Given the description of an element on the screen output the (x, y) to click on. 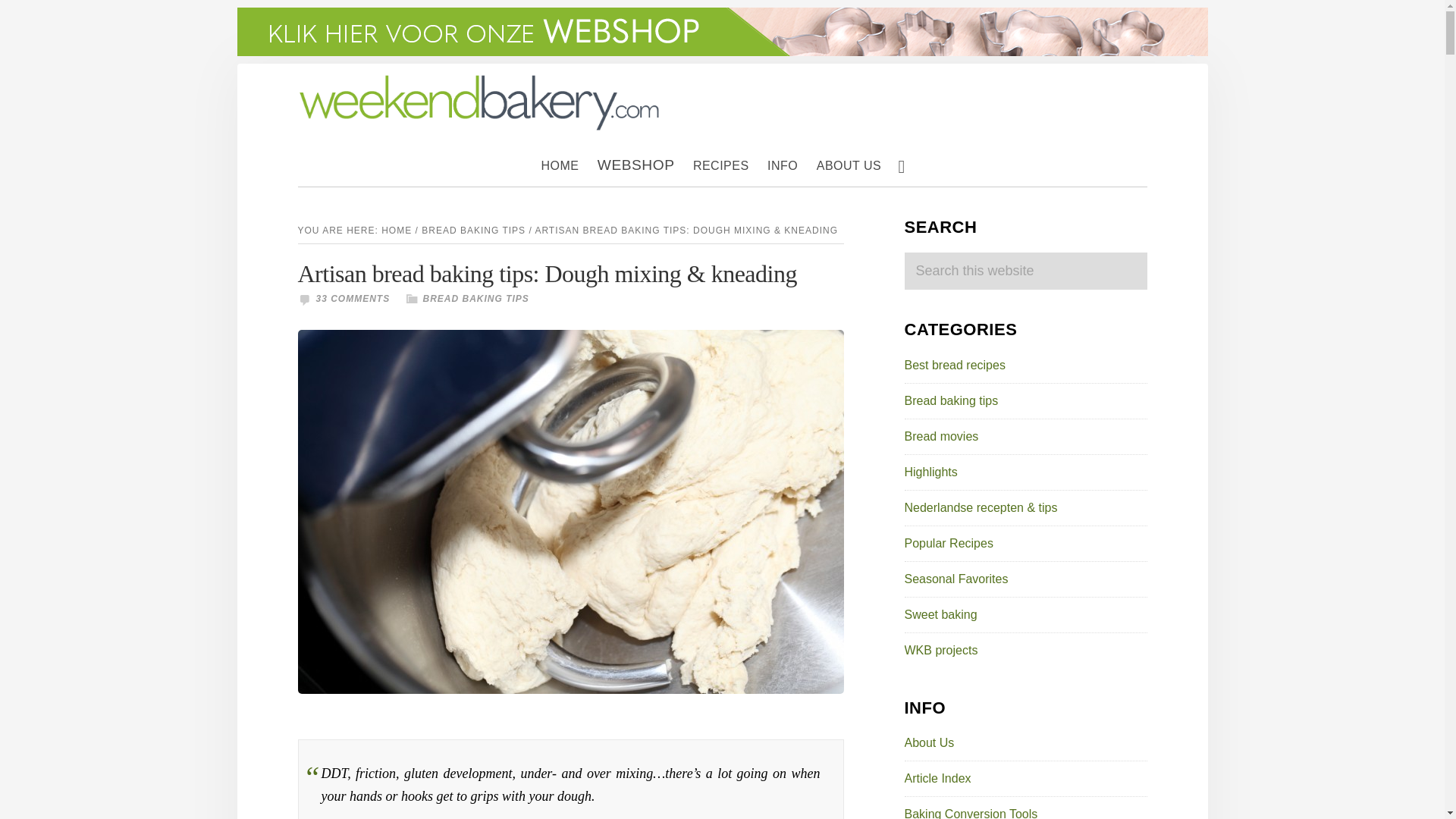
WEBSHOP (635, 164)
Weekend Bakery (479, 80)
Weekend Bakery (479, 102)
HOME (559, 165)
RECIPES (721, 165)
